Given the description of an element on the screen output the (x, y) to click on. 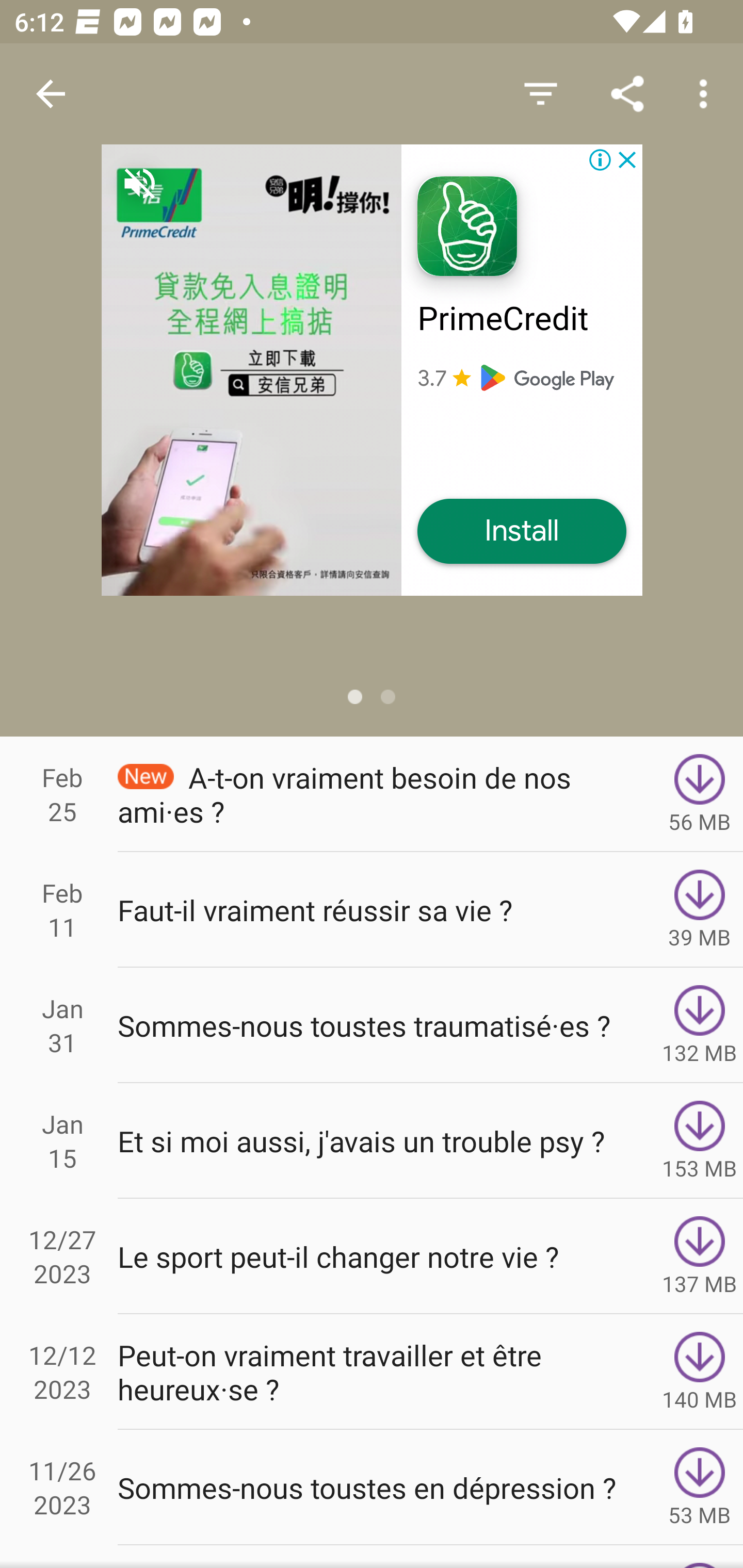
Navigate up (50, 93)
Hide Episodes (540, 93)
Share Link (626, 93)
More options (706, 93)
PrimeCredit 3.7 Install Install (371, 369)
Install (521, 531)
Download 56 MB (699, 793)
Download 39 MB (699, 909)
Download 132 MB (699, 1025)
Download 153 MB (699, 1140)
Download 137 MB (699, 1255)
Download 140 MB (699, 1371)
Download 53 MB (699, 1488)
